Given the description of an element on the screen output the (x, y) to click on. 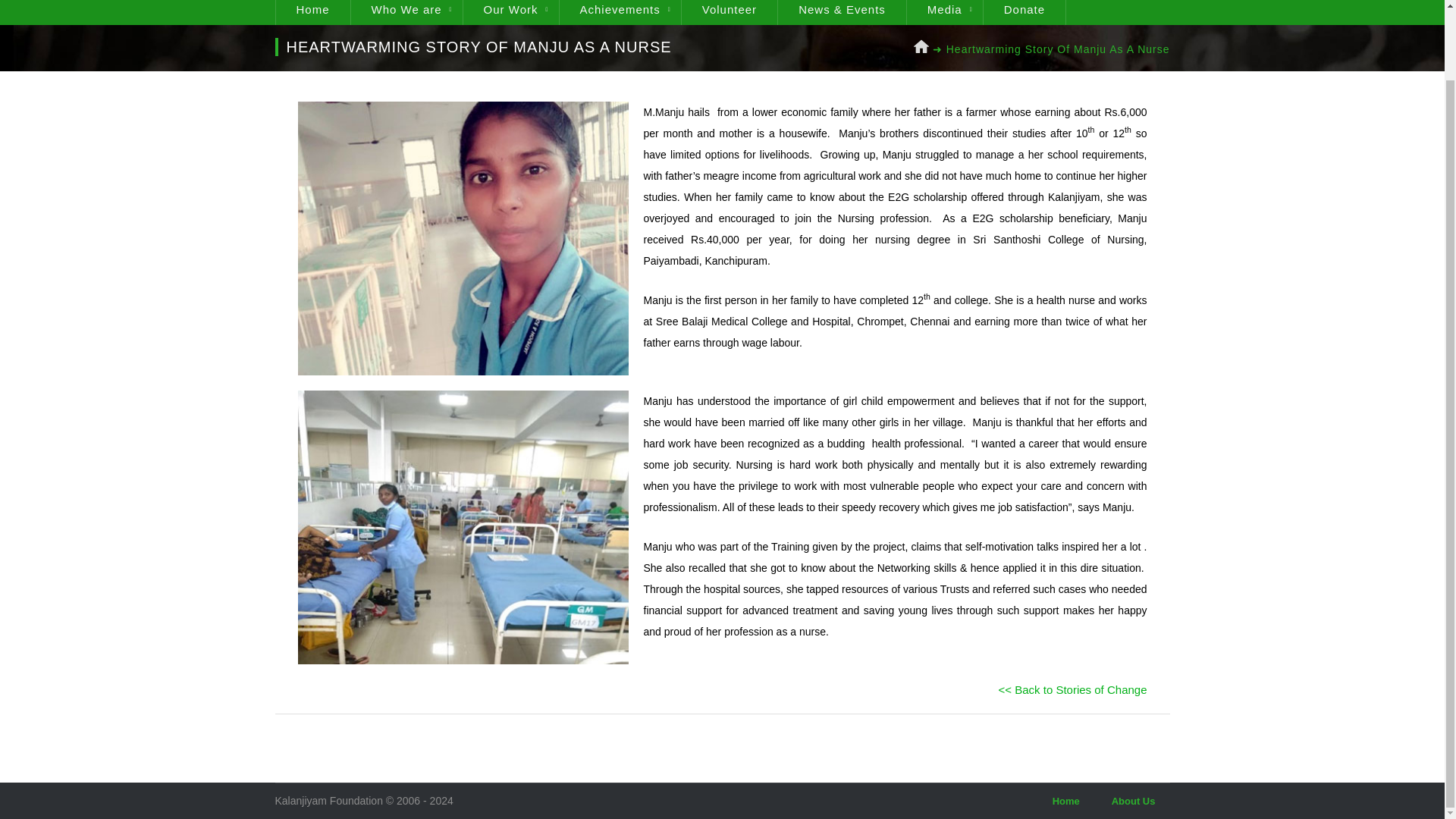
Our Work (510, 12)
Donate (1024, 12)
Home (312, 12)
Who We are (406, 12)
Achievements (619, 12)
About Us (1134, 801)
Home (1066, 801)
Volunteer (729, 12)
Media (944, 12)
